Given the description of an element on the screen output the (x, y) to click on. 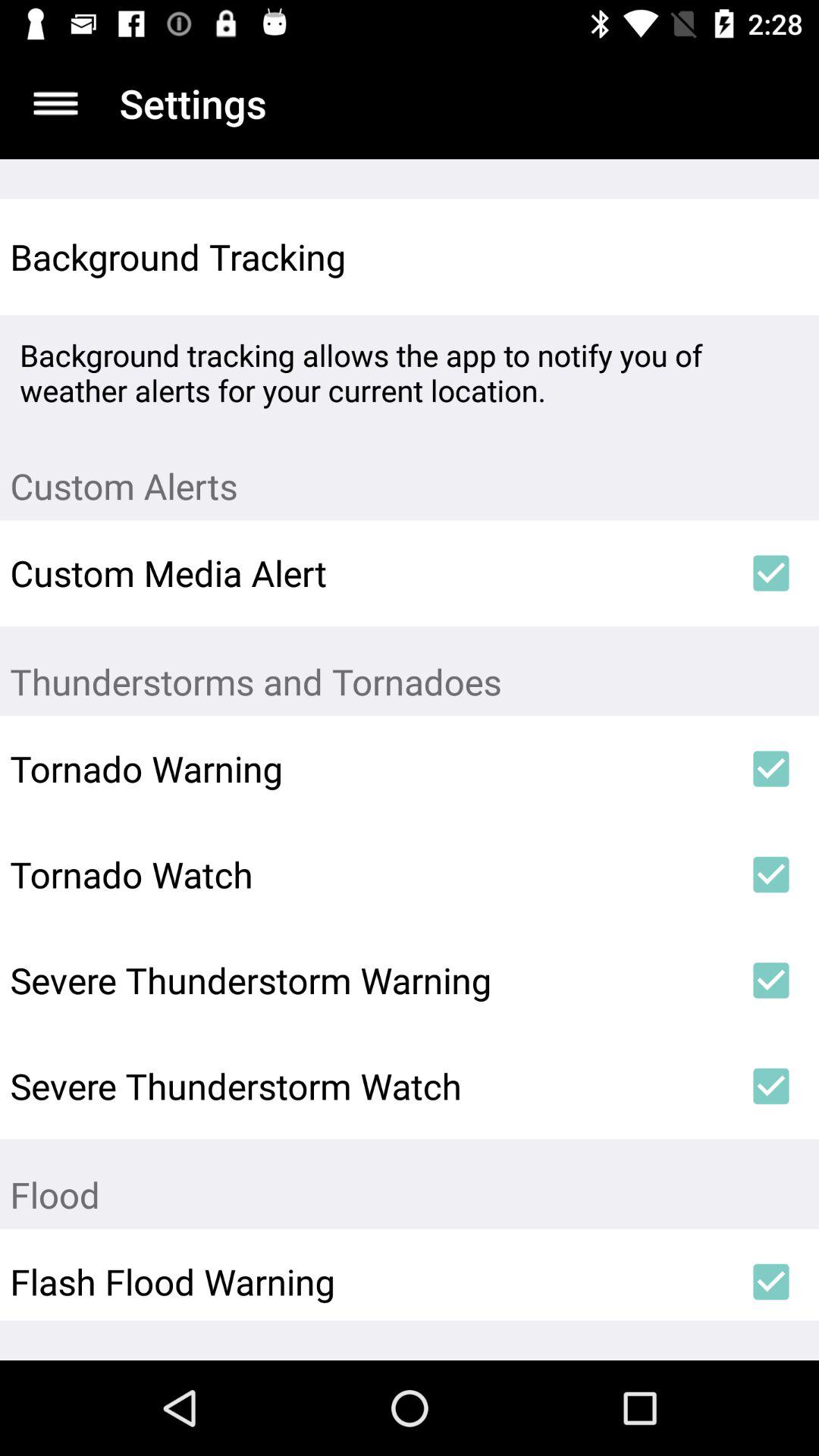
open the icon above the background tracking allows icon (771, 256)
